Given the description of an element on the screen output the (x, y) to click on. 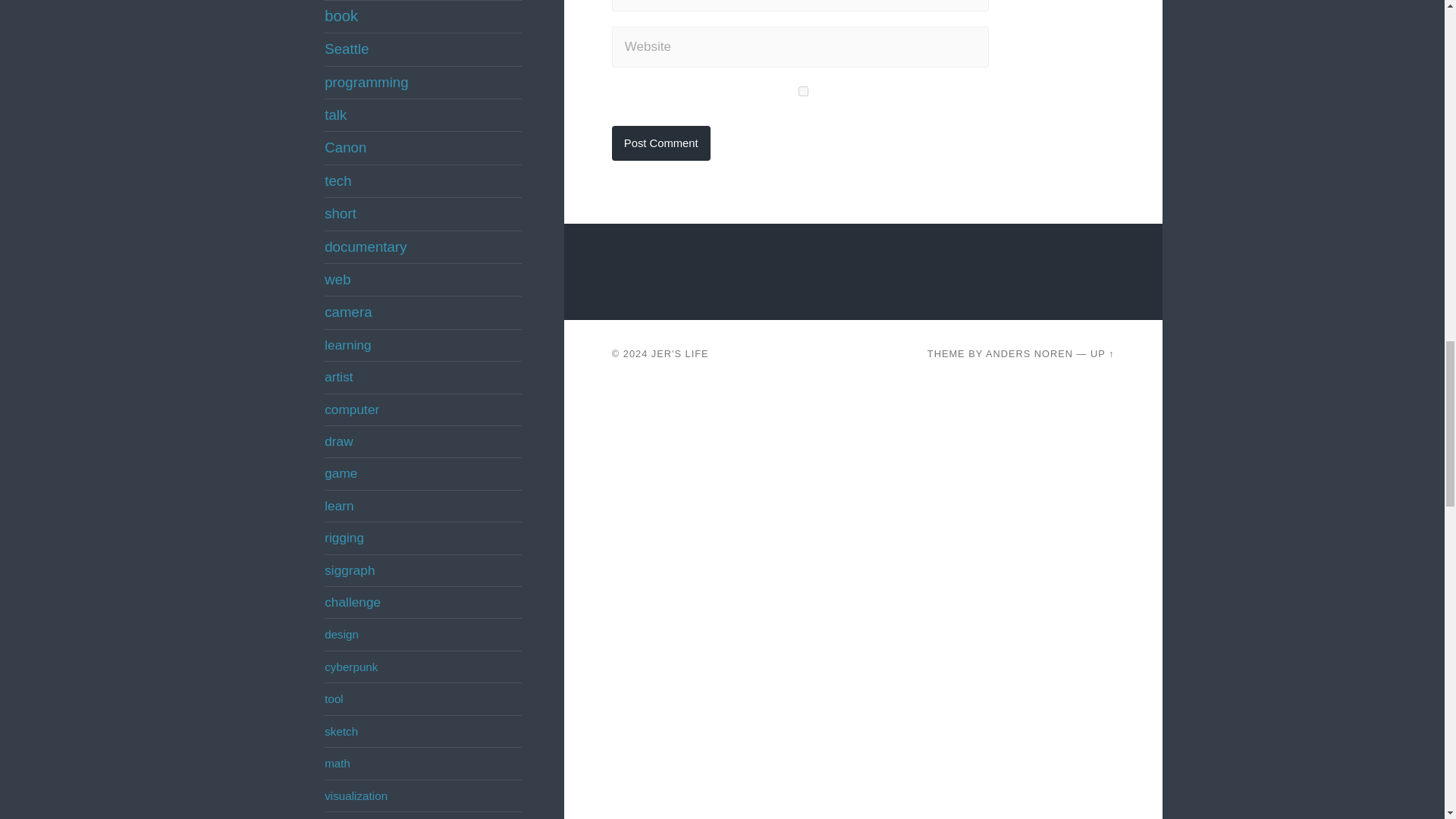
yes (802, 91)
Post Comment (660, 143)
To the top (1102, 353)
Jer's Life (679, 353)
